Given the description of an element on the screen output the (x, y) to click on. 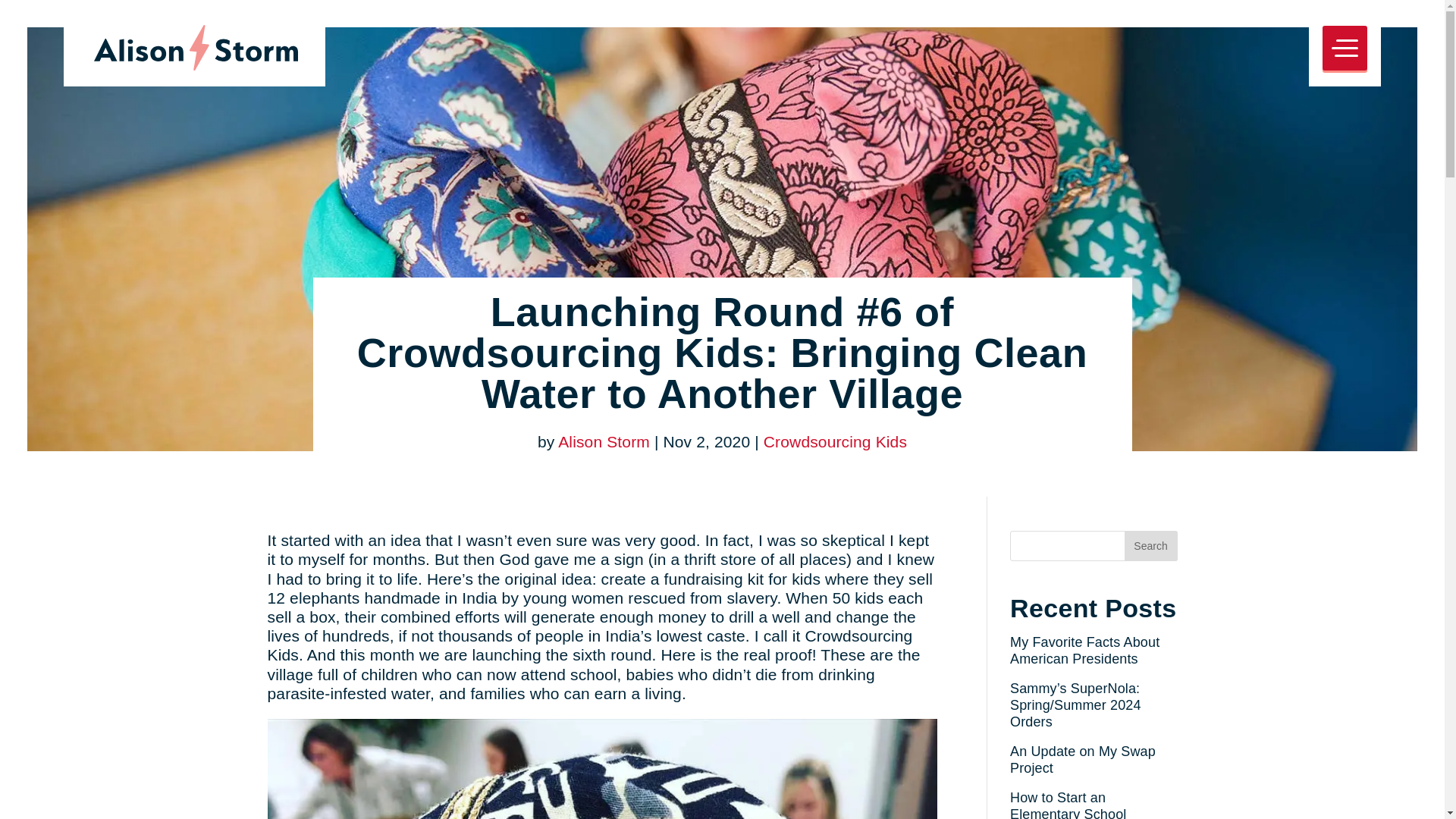
My Favorite Facts About American Presidents (1084, 650)
Search (1150, 545)
Posts by Alison Storm (603, 441)
Search (1150, 545)
Crowdsourcing Kids (834, 441)
An Update on My Swap Project (1083, 759)
Alison Storm (603, 441)
How to Start an Elementary School Running Club (1067, 804)
